Given the description of an element on the screen output the (x, y) to click on. 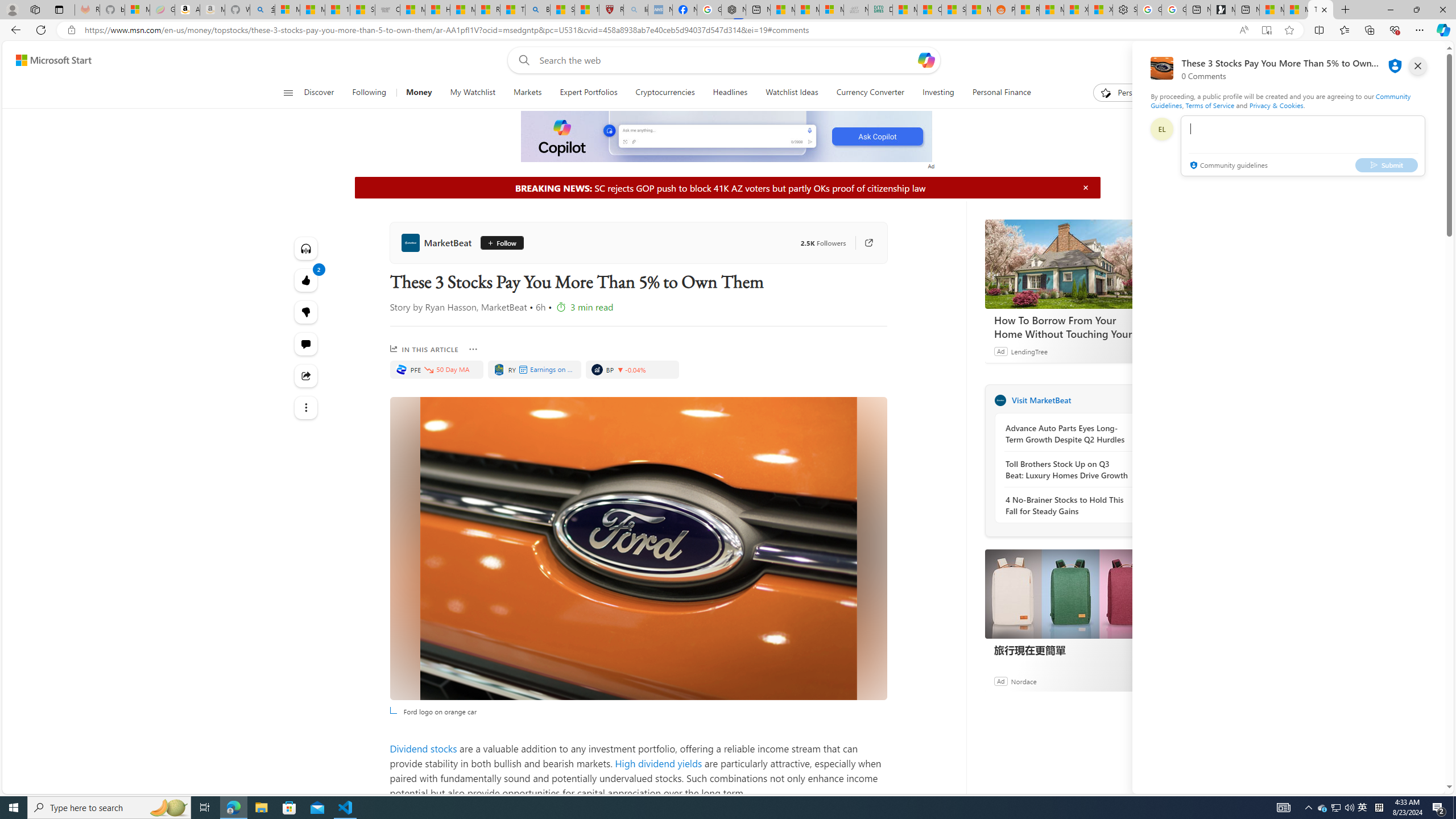
2 Like (305, 279)
12 Popular Science Lies that Must be Corrected (586, 9)
Follow (497, 242)
My Watchlist (472, 92)
Expert Portfolios (588, 92)
Cryptocurrencies (664, 92)
